Given the description of an element on the screen output the (x, y) to click on. 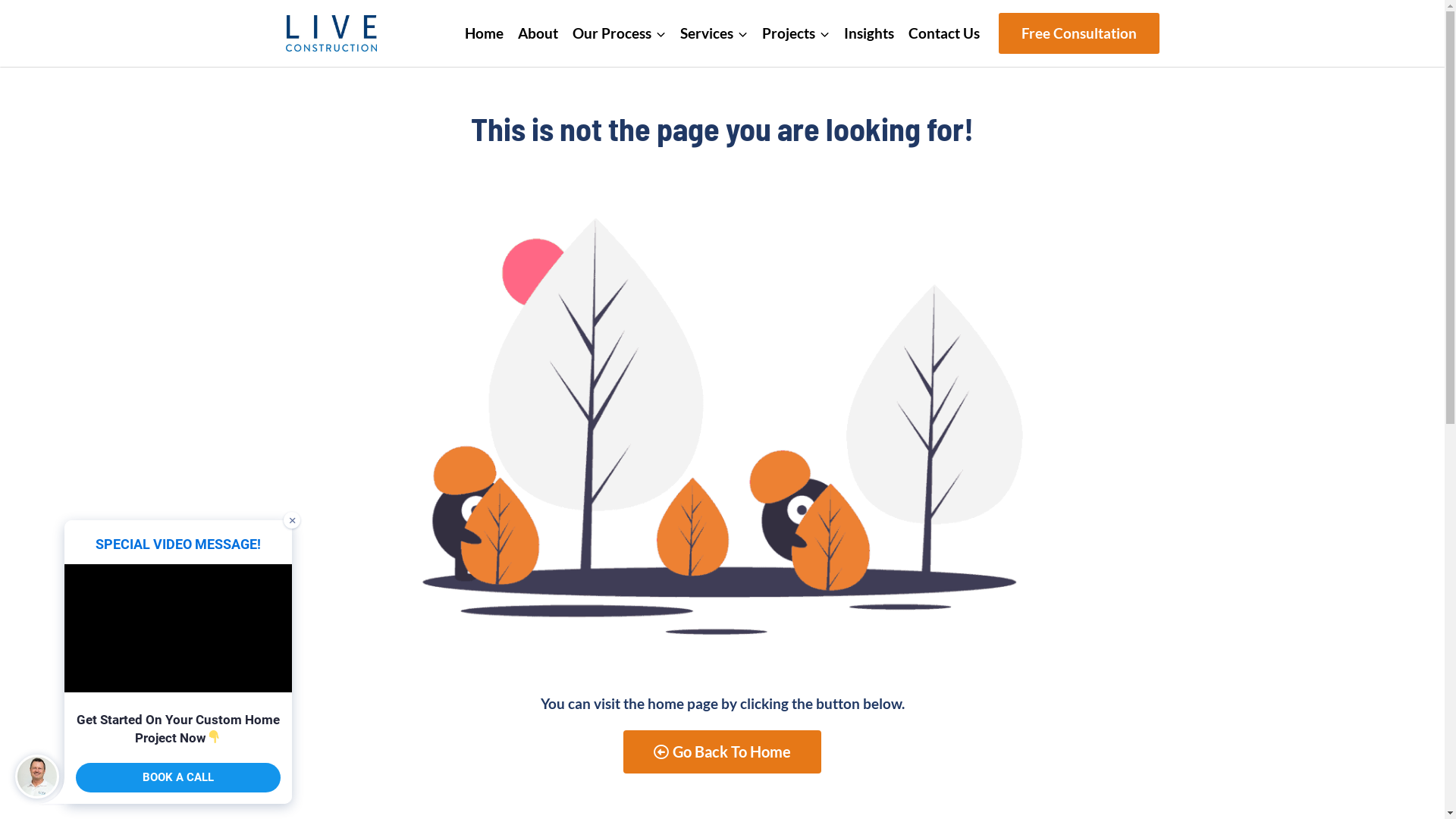
About Element type: text (538, 32)
YouTube video player Element type: hover (177, 628)
BOOK A CALL Element type: text (177, 777)
Home Element type: text (484, 32)
Our Process Element type: text (619, 32)
Free Consultation Element type: text (1077, 32)
Services Element type: text (714, 32)
Projects Element type: text (796, 32)
Insights Element type: text (869, 32)
Contact Us Element type: text (943, 32)
Go Back To Home Element type: text (722, 751)
